Given the description of an element on the screen output the (x, y) to click on. 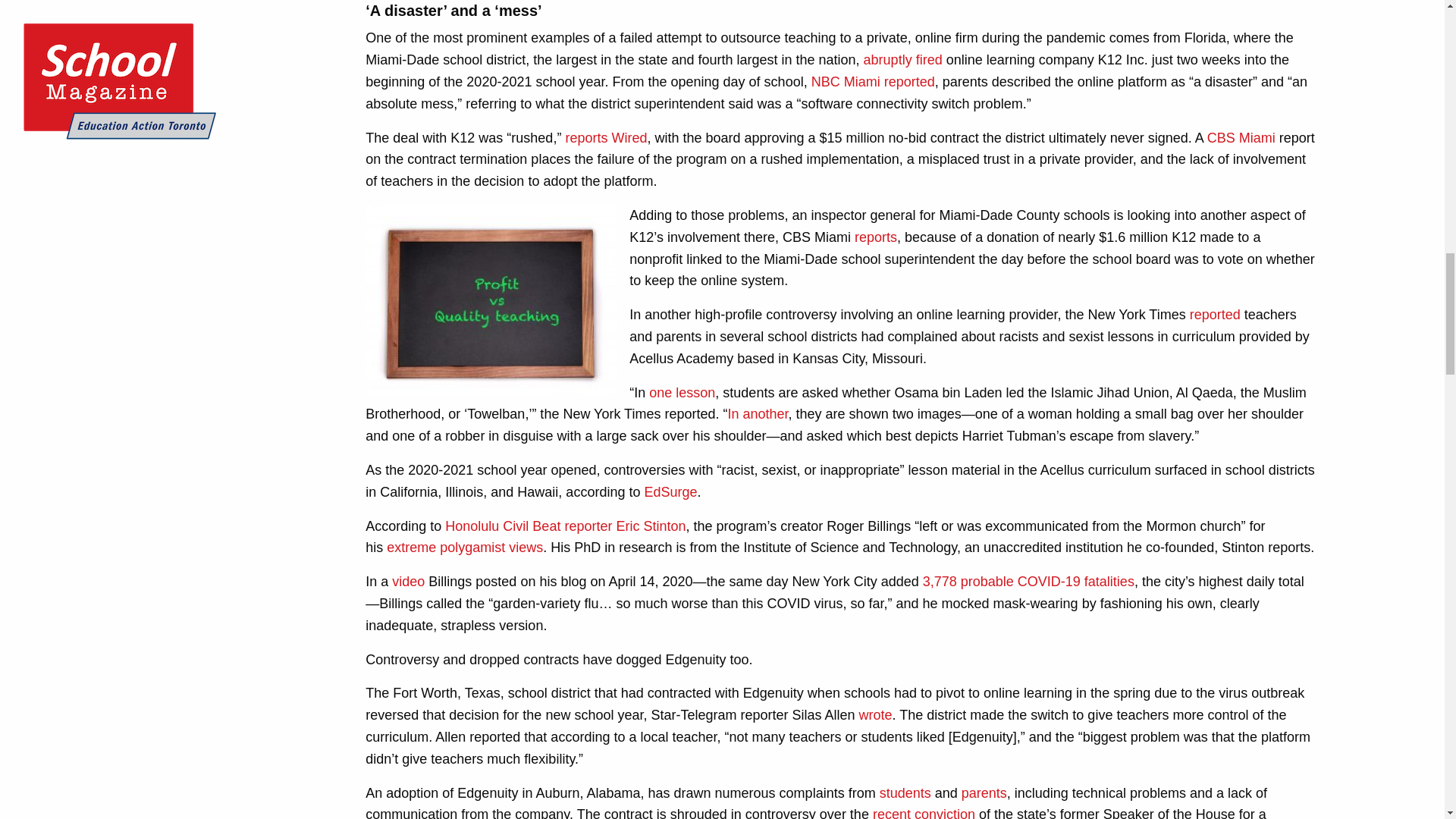
reports Wired (605, 137)
In another (758, 413)
abruptly fired (902, 59)
3,778 probable COVID-19 fatalities (1028, 581)
reports (875, 237)
recent conviction (923, 812)
reported (1214, 314)
EdSurge (670, 491)
video (408, 581)
one lesson (681, 392)
wrote (875, 714)
NBC Miami reported (872, 81)
parents (983, 792)
students (905, 792)
extreme polygamist views (465, 547)
